Given the description of an element on the screen output the (x, y) to click on. 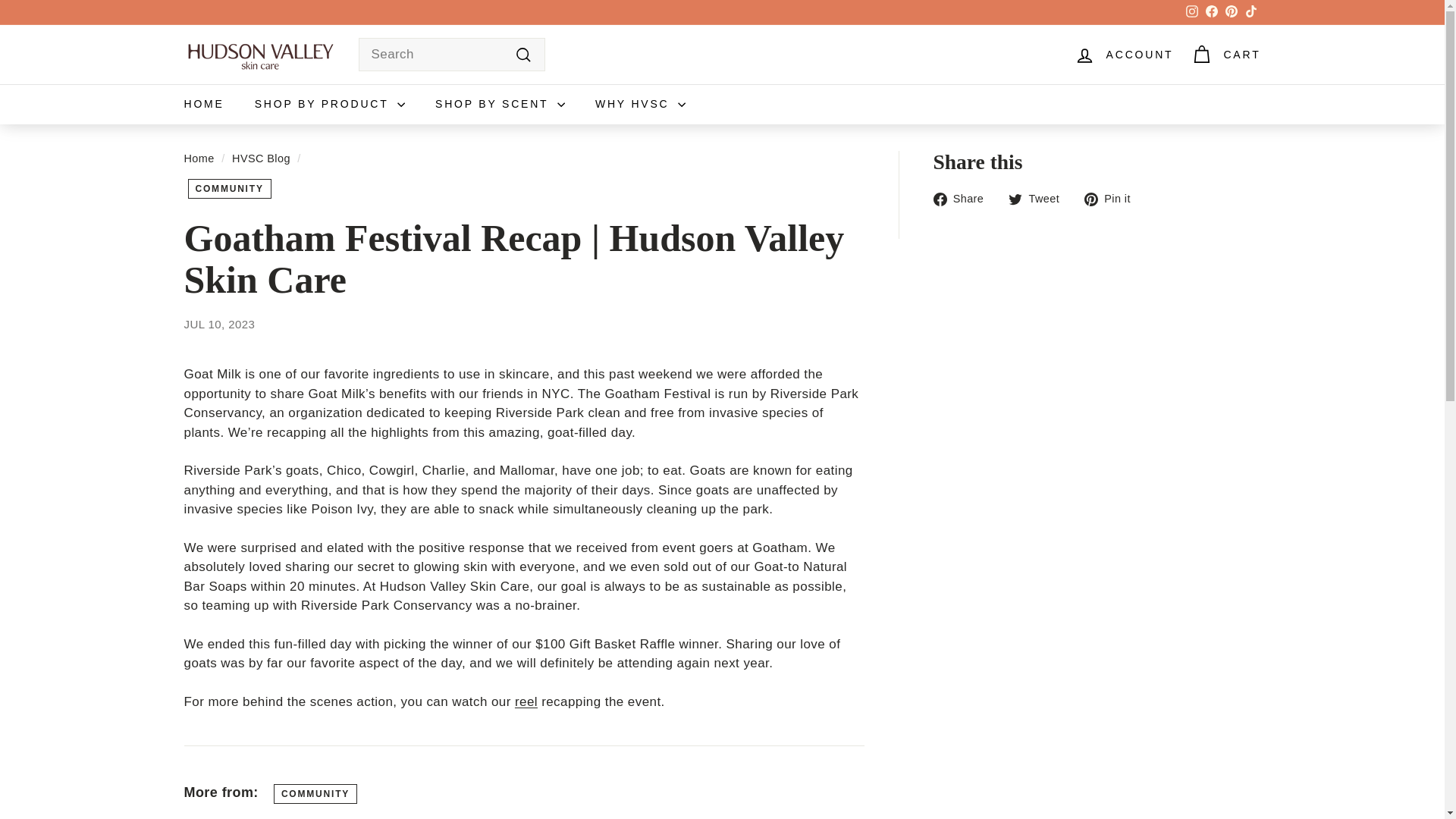
Share on Facebook (963, 198)
HOME (203, 104)
CART (1225, 53)
Back to the frontpage (198, 158)
ACCOUNT (1123, 53)
Hudson Valley Skin Care Instagram (526, 701)
Tweet on Twitter (1039, 198)
instagram (1192, 10)
twitter (1015, 199)
Pin on Pinterest (1112, 198)
